Given the description of an element on the screen output the (x, y) to click on. 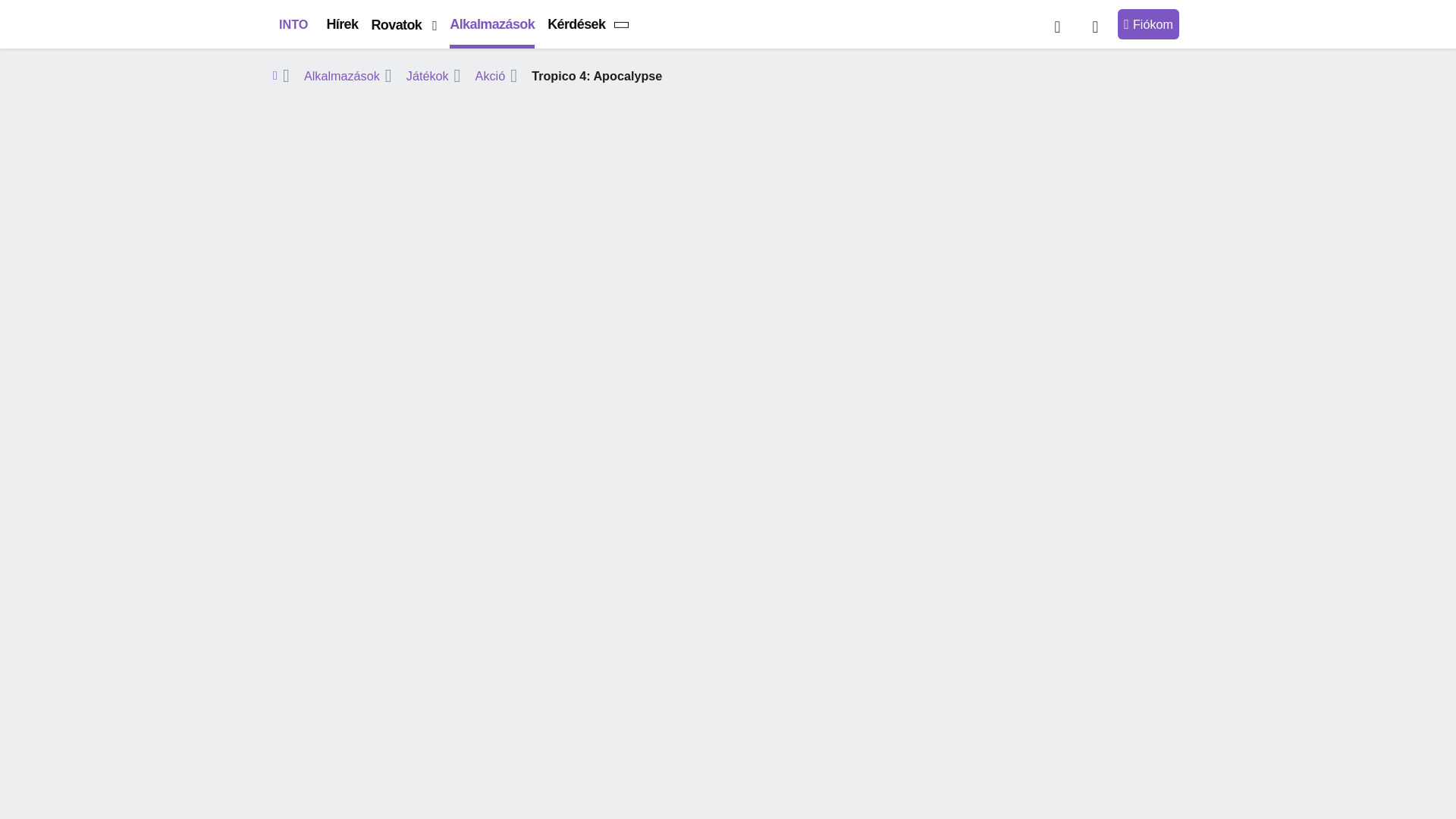
Rovatok (403, 26)
